Given the description of an element on the screen output the (x, y) to click on. 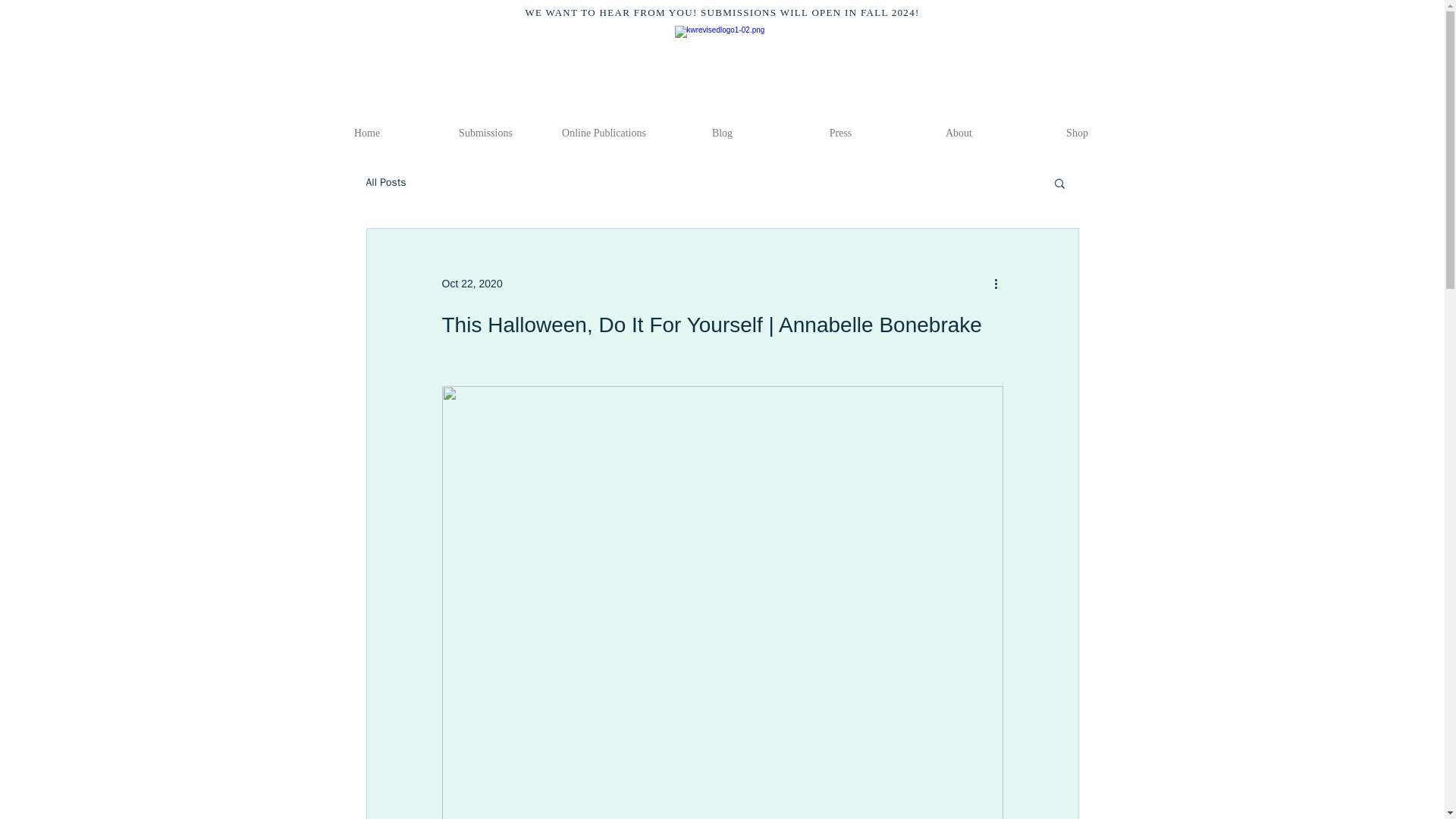
Press (839, 132)
Home (366, 132)
All Posts (385, 182)
Shop (1076, 132)
Oct 22, 2020 (471, 283)
Submissions (485, 132)
Blog (721, 132)
Online Publications (603, 132)
About (958, 132)
